Given the description of an element on the screen output the (x, y) to click on. 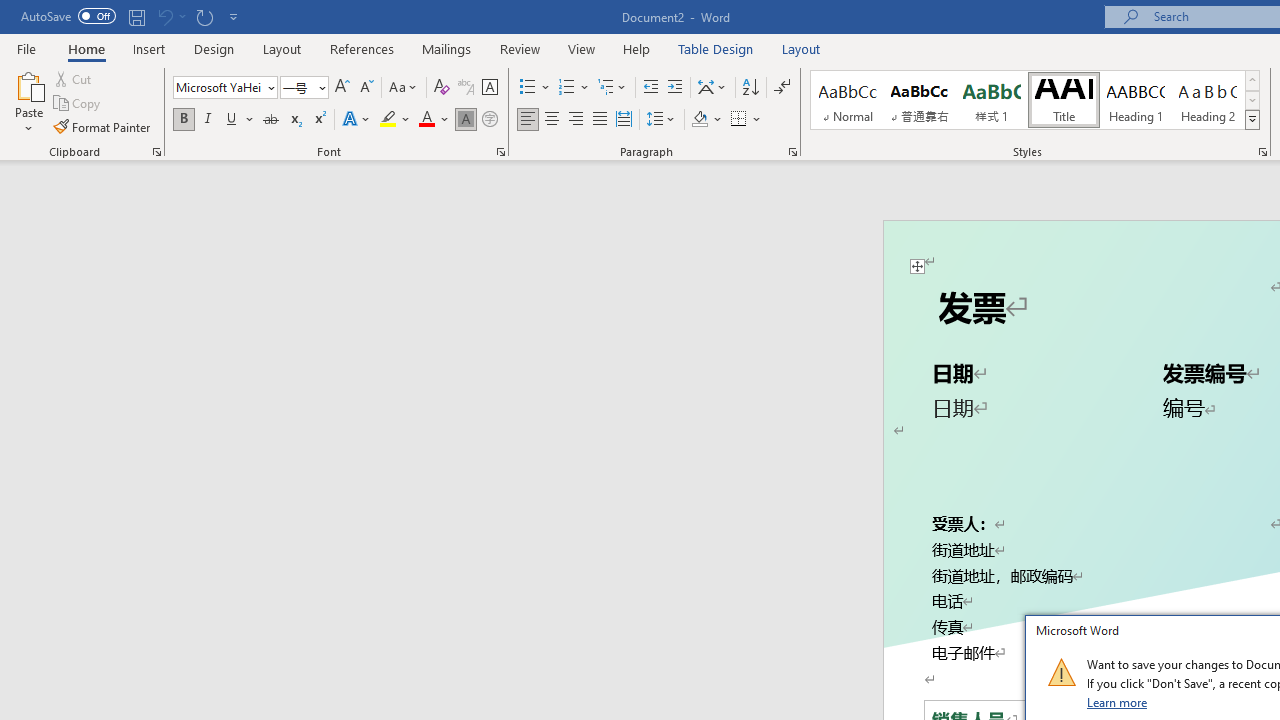
View (582, 48)
Mailings (447, 48)
Shading RGB(0, 0, 0) (699, 119)
Numbering (573, 87)
Help (637, 48)
Phonetic Guide... (465, 87)
Insert (149, 48)
Text Highlight Color Yellow (388, 119)
Heading 2 (1208, 100)
Title (1063, 100)
Layout (801, 48)
Borders (746, 119)
Grow Font (342, 87)
Repeat Default Char Shading (204, 15)
